Given the description of an element on the screen output the (x, y) to click on. 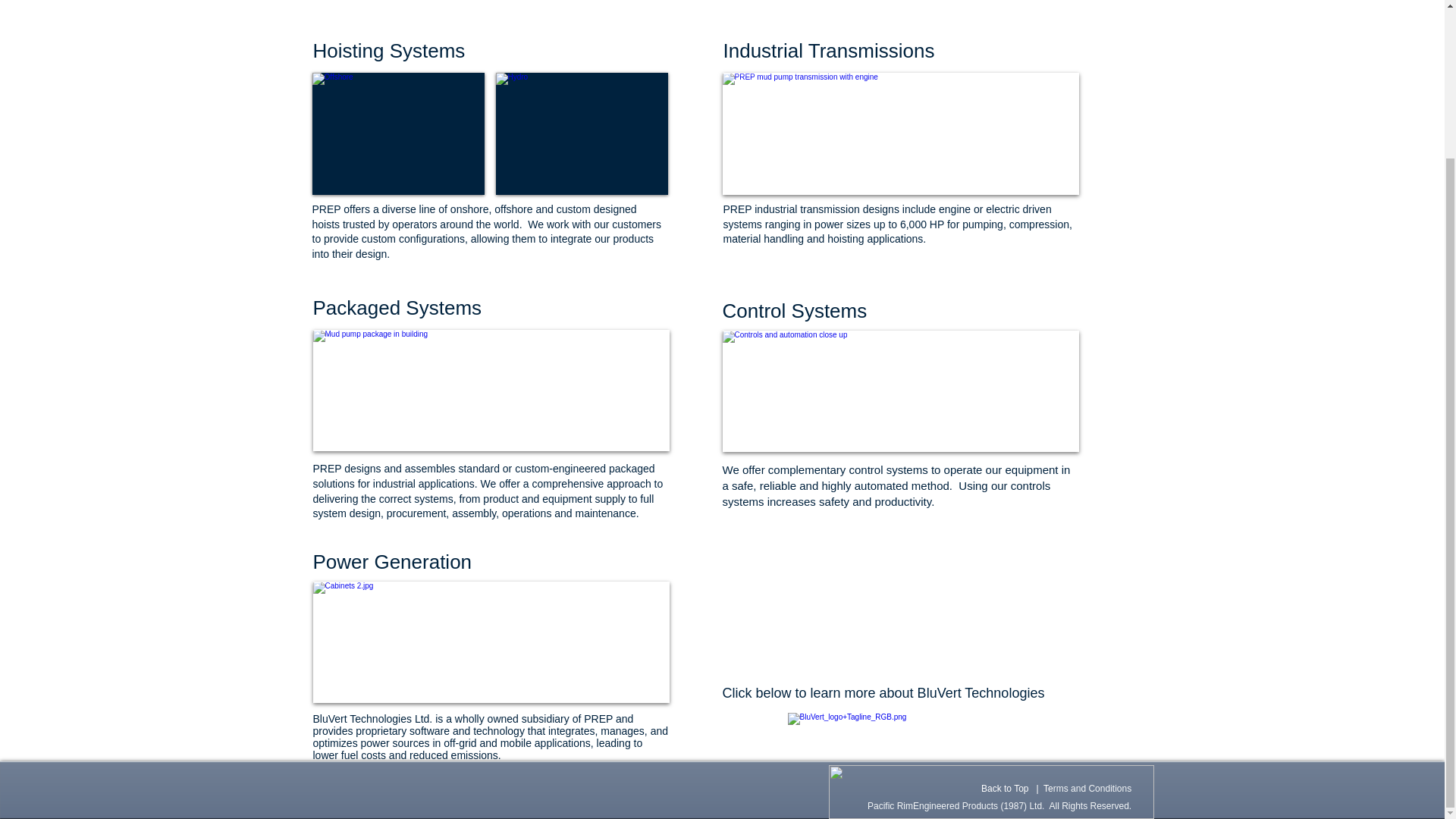
Mud pump transmission and engine (900, 133)
Mud pump package in building (490, 390)
Drilling Rig Controls  (900, 391)
 Back to Top  (1004, 787)
Terms and Conditions (1087, 787)
Drilling Rig Controls  (490, 641)
